Given the description of an element on the screen output the (x, y) to click on. 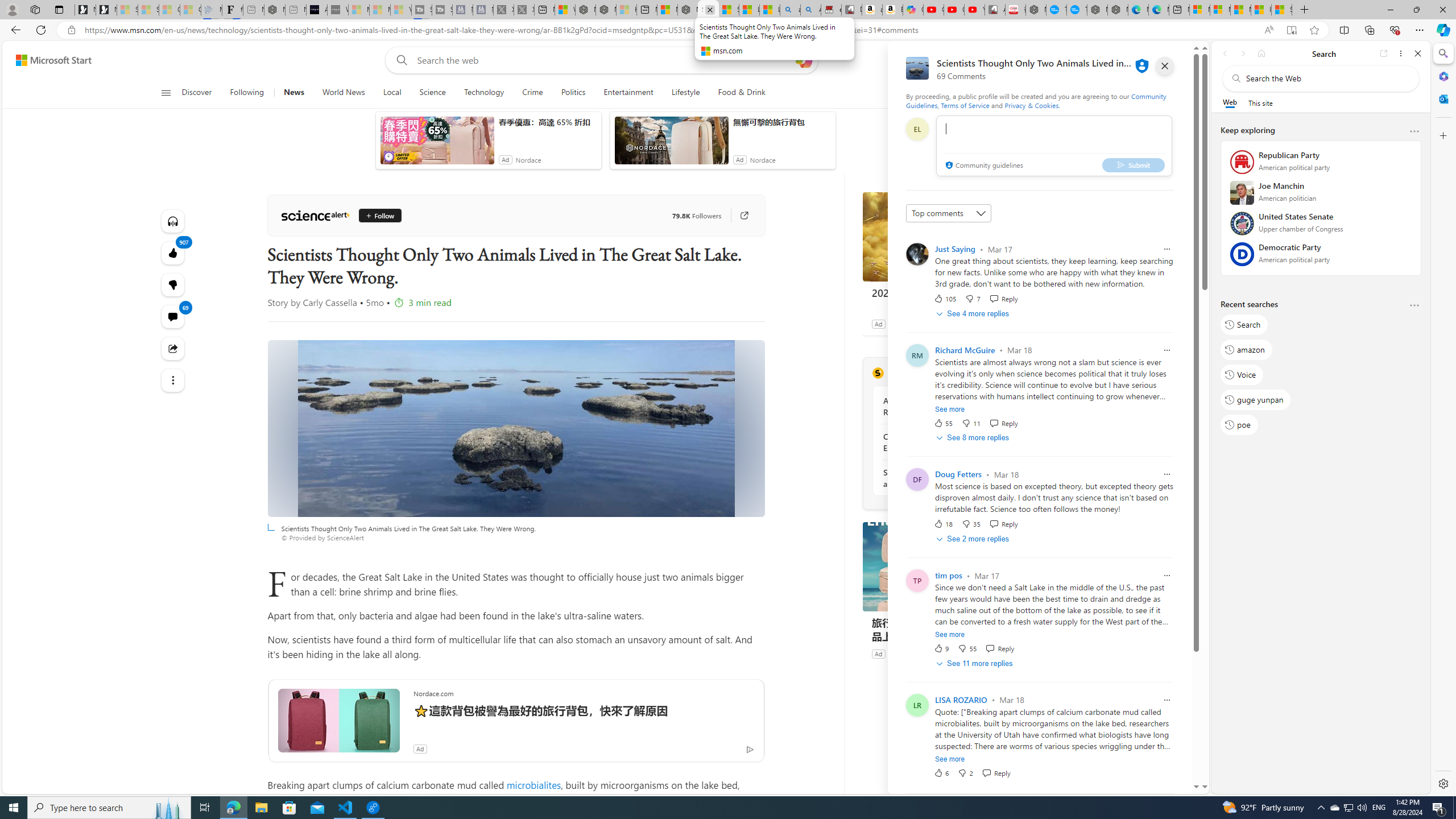
Nordace - My Account (1035, 9)
Copilot (913, 9)
Skip to content (49, 59)
I Gained 20 Pounds of Muscle in 30 Days! | Watch (1261, 9)
55 Like (942, 422)
Crime (532, 92)
Privacy & Cookies (1031, 104)
Amazon Echo Dot PNG - Search Images (809, 9)
18 Like (942, 523)
Open navigation menu (164, 92)
Microsoft 365 (1442, 76)
Microsoft Start Sports - Sleeping (358, 9)
